Given the description of an element on the screen output the (x, y) to click on. 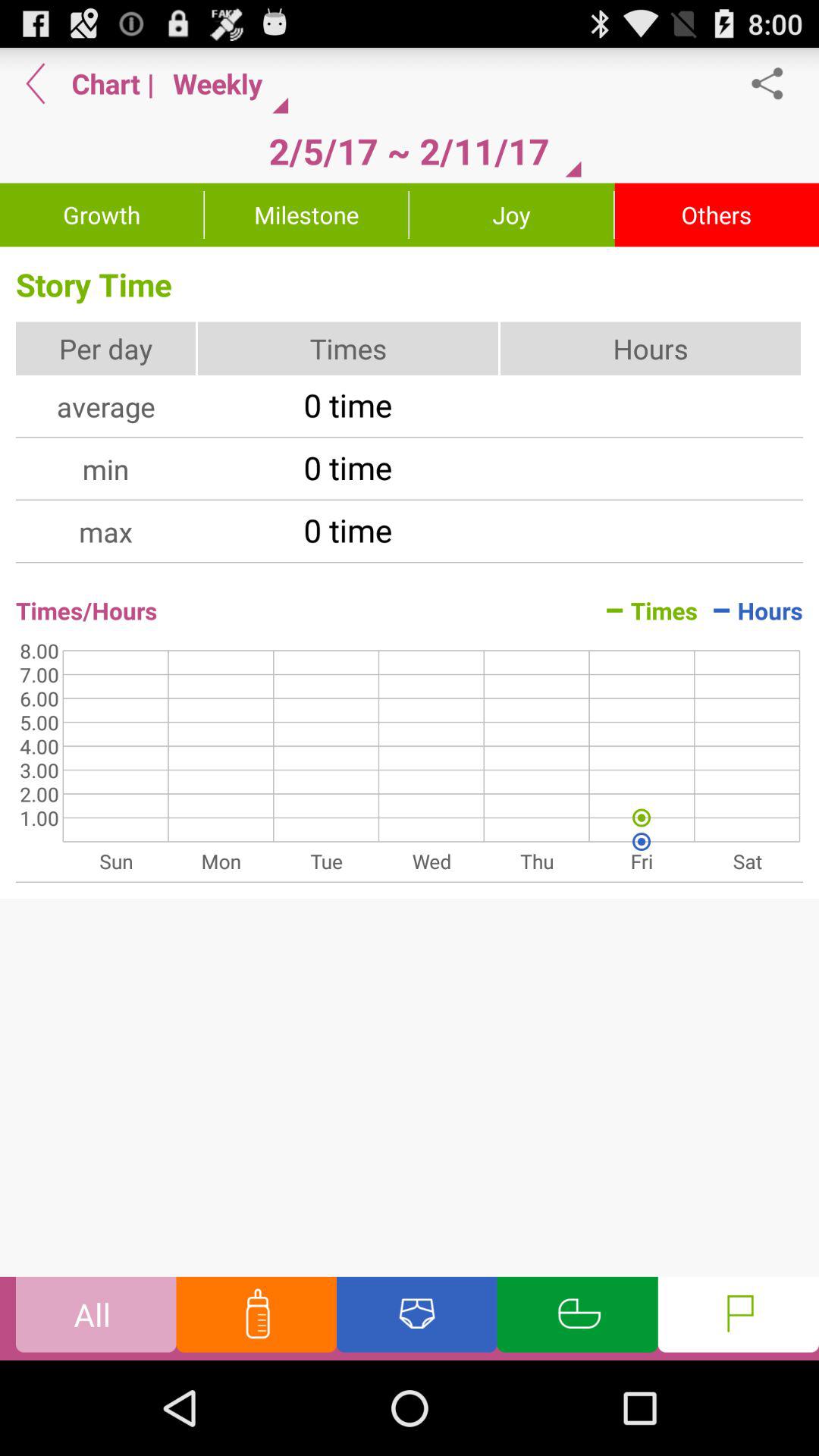
share the article (775, 83)
